Given the description of an element on the screen output the (x, y) to click on. 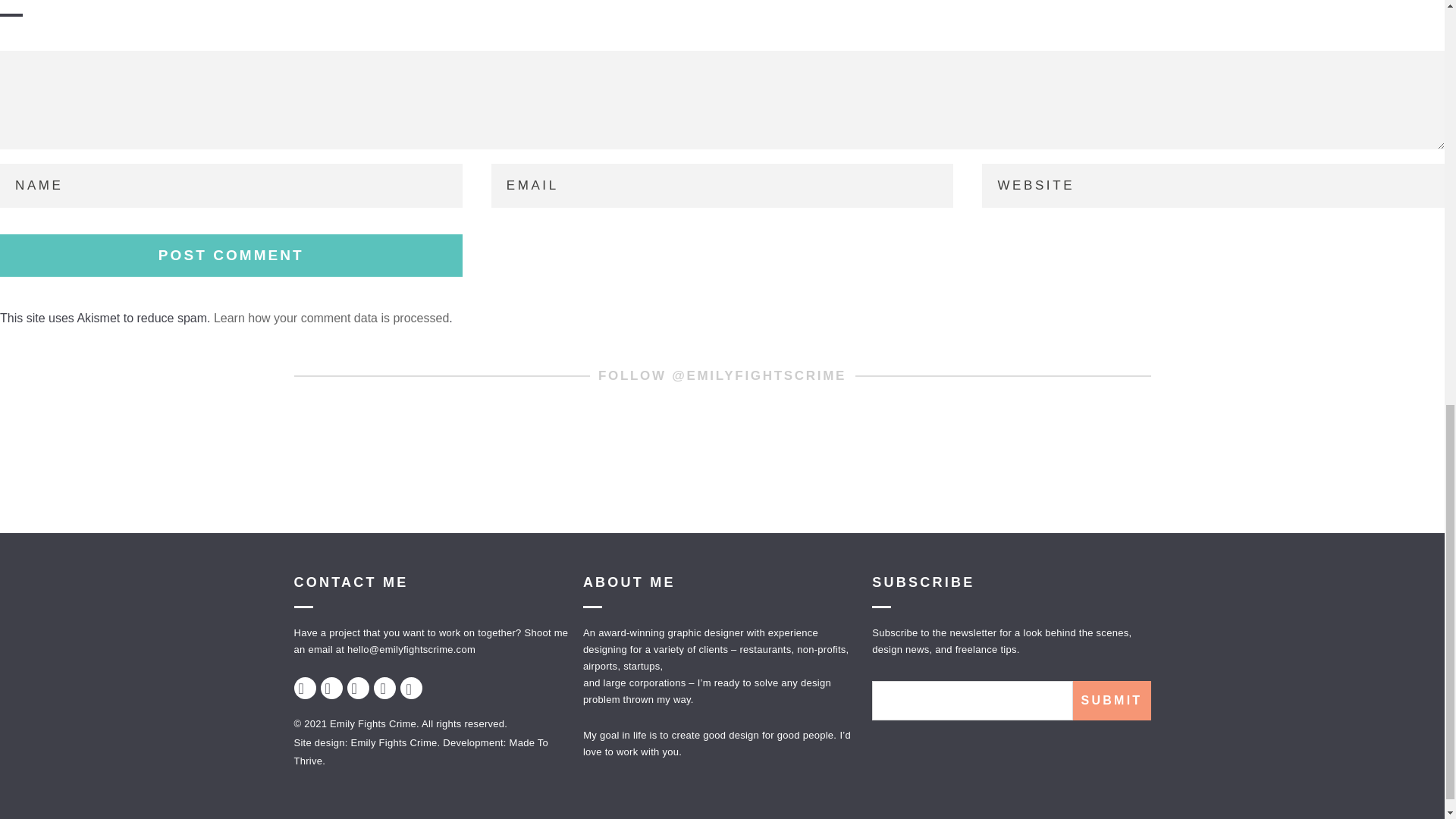
Submit (1110, 700)
Post Comment (231, 255)
Made To Thrive. (421, 752)
Learn how your comment data is processed (331, 318)
Post Comment (231, 255)
